Given the description of an element on the screen output the (x, y) to click on. 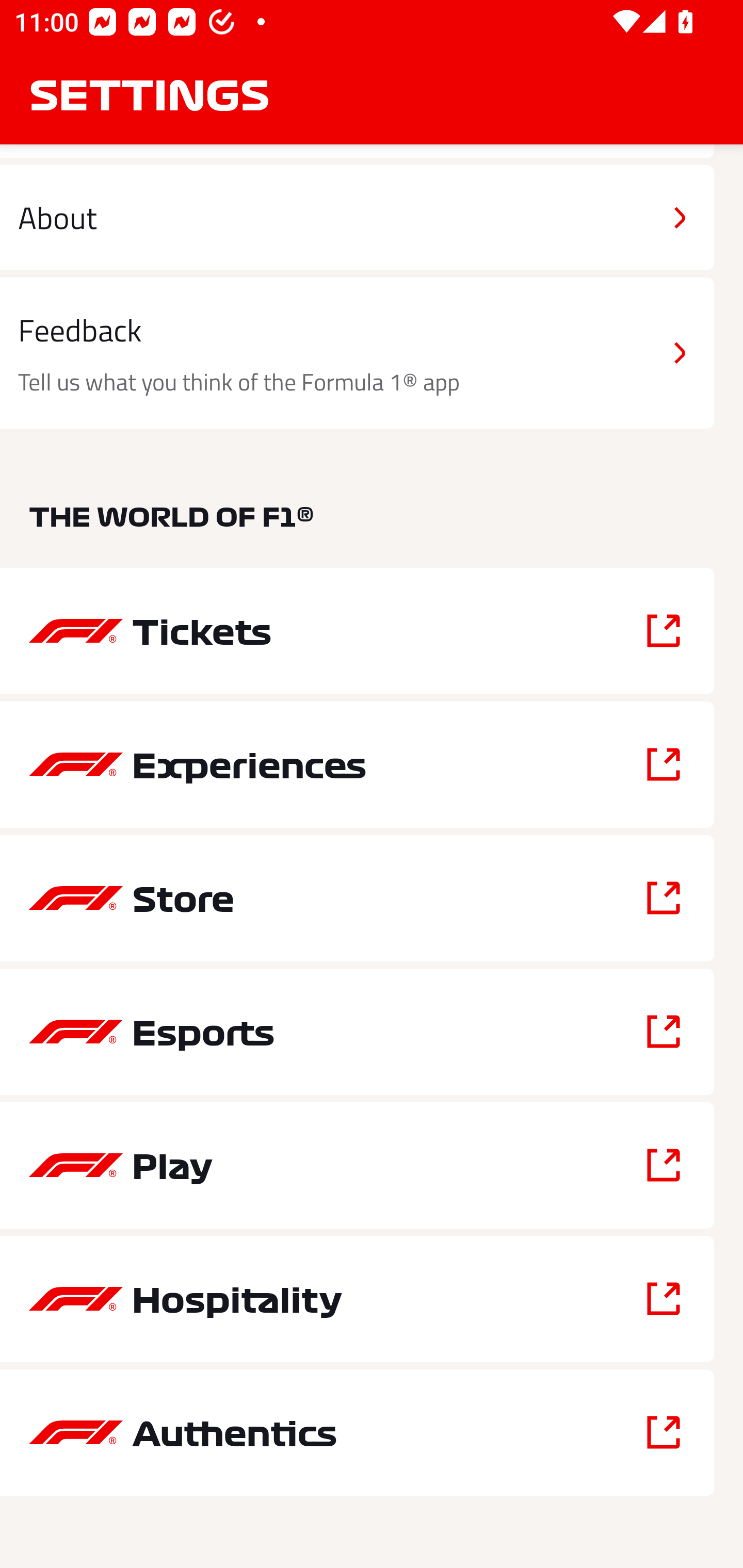
About (357, 216)
Tickets (357, 630)
Experiences (357, 763)
Store (357, 898)
Esports (357, 1031)
Play (357, 1165)
Hospitality (357, 1298)
Authentics (357, 1431)
